Given the description of an element on the screen output the (x, y) to click on. 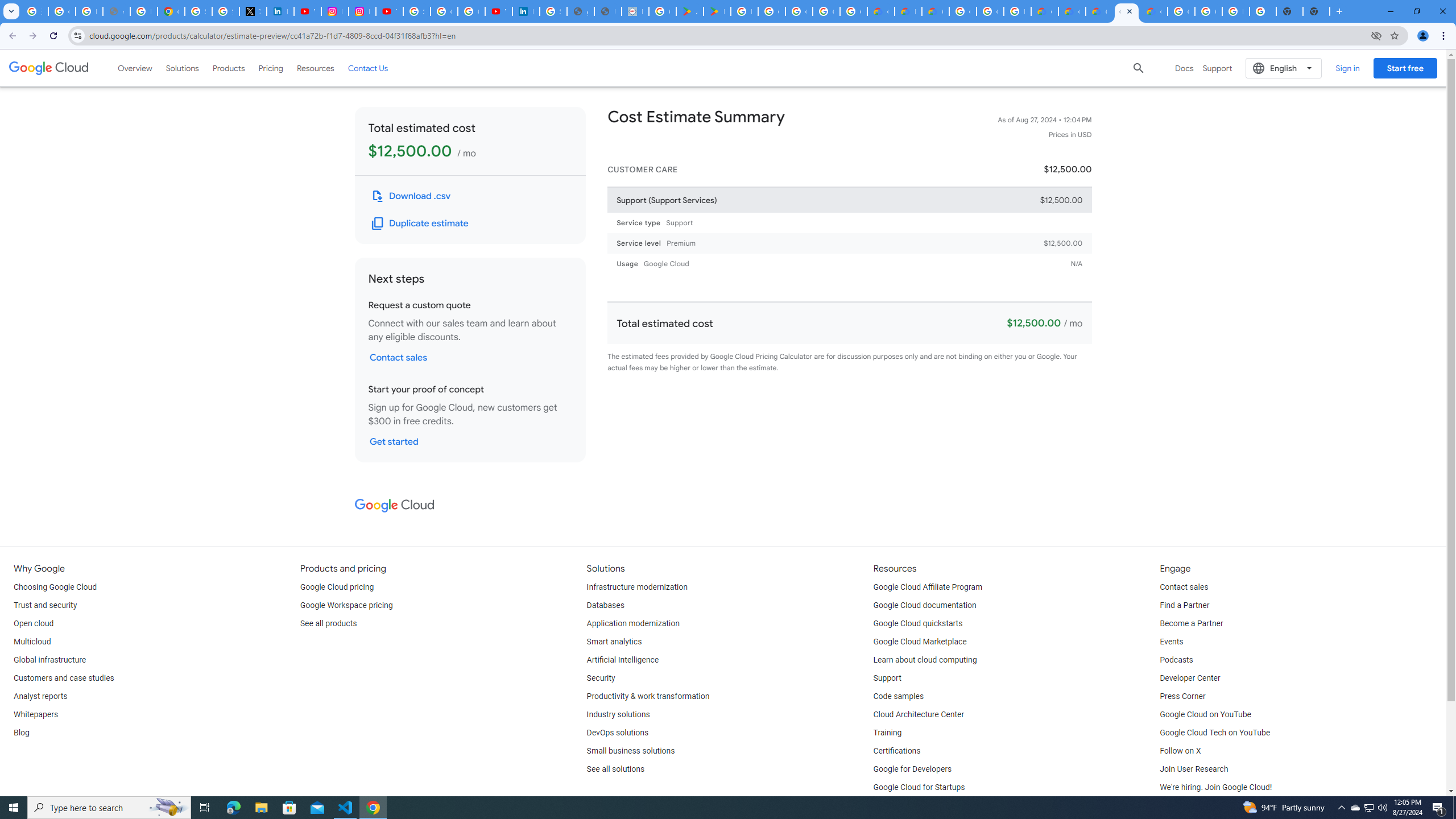
Multicloud (31, 642)
X (253, 11)
Google Cloud (48, 67)
Whitepapers (35, 714)
DevOps solutions (617, 732)
Start free (1405, 67)
Developer Center (1189, 678)
Analyst reports (39, 696)
New Tab (1316, 11)
Data Privacy Framework (634, 11)
Customer Care | Google Cloud (880, 11)
